Given the description of an element on the screen output the (x, y) to click on. 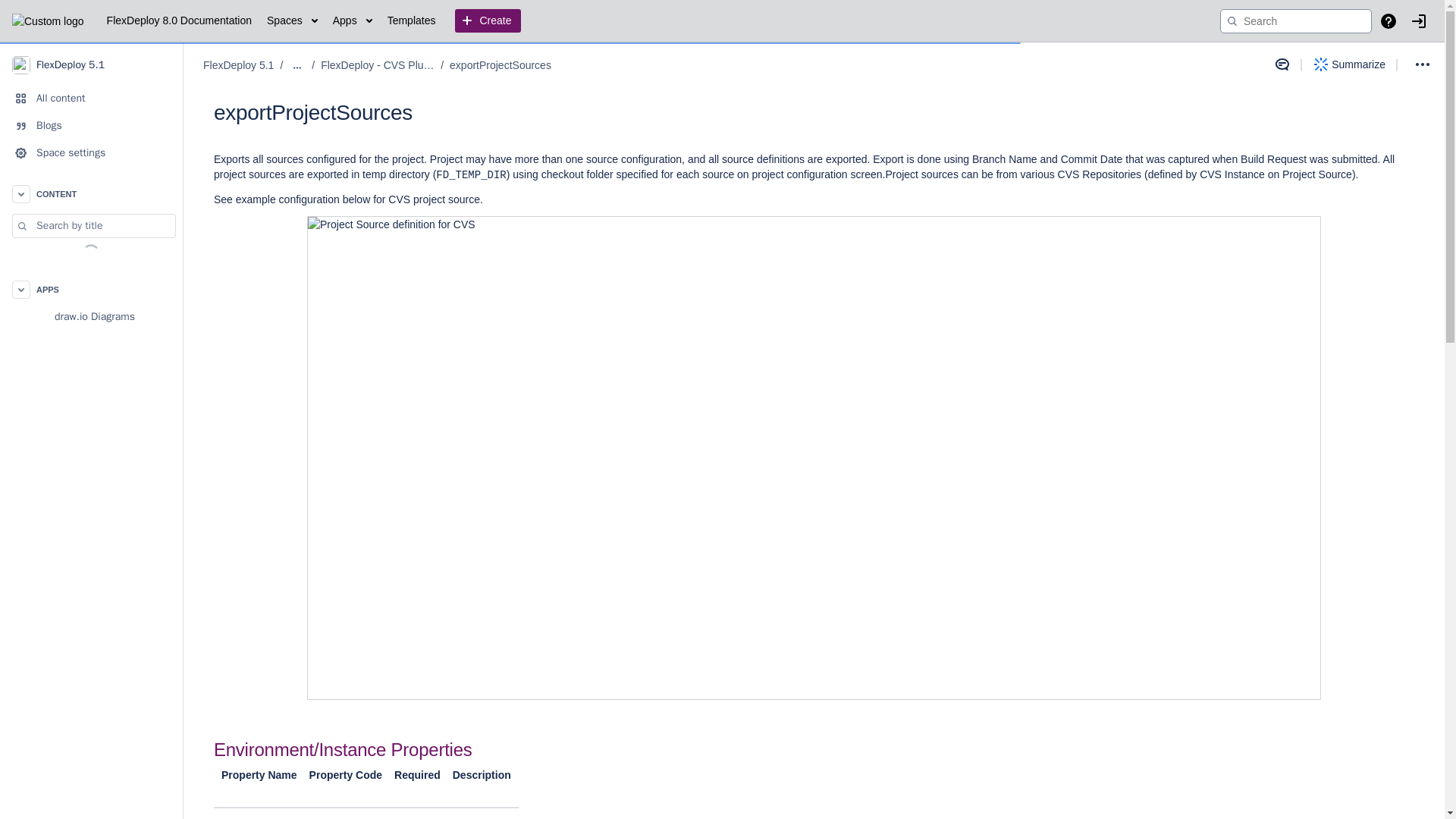
FlexDeploy 5.1 (238, 64)
Apps (353, 21)
FlexDeploy 5.1 (90, 64)
Blogs (90, 125)
Summarize (1349, 64)
FlexDeploy - CVS Plugin Guide (376, 64)
All content (90, 98)
Space settings (90, 153)
draw.io Diagrams (90, 316)
CONTENT (90, 194)
Create (486, 21)
Spaces (291, 21)
APPS (90, 289)
exportProjectSources (500, 64)
